Given the description of an element on the screen output the (x, y) to click on. 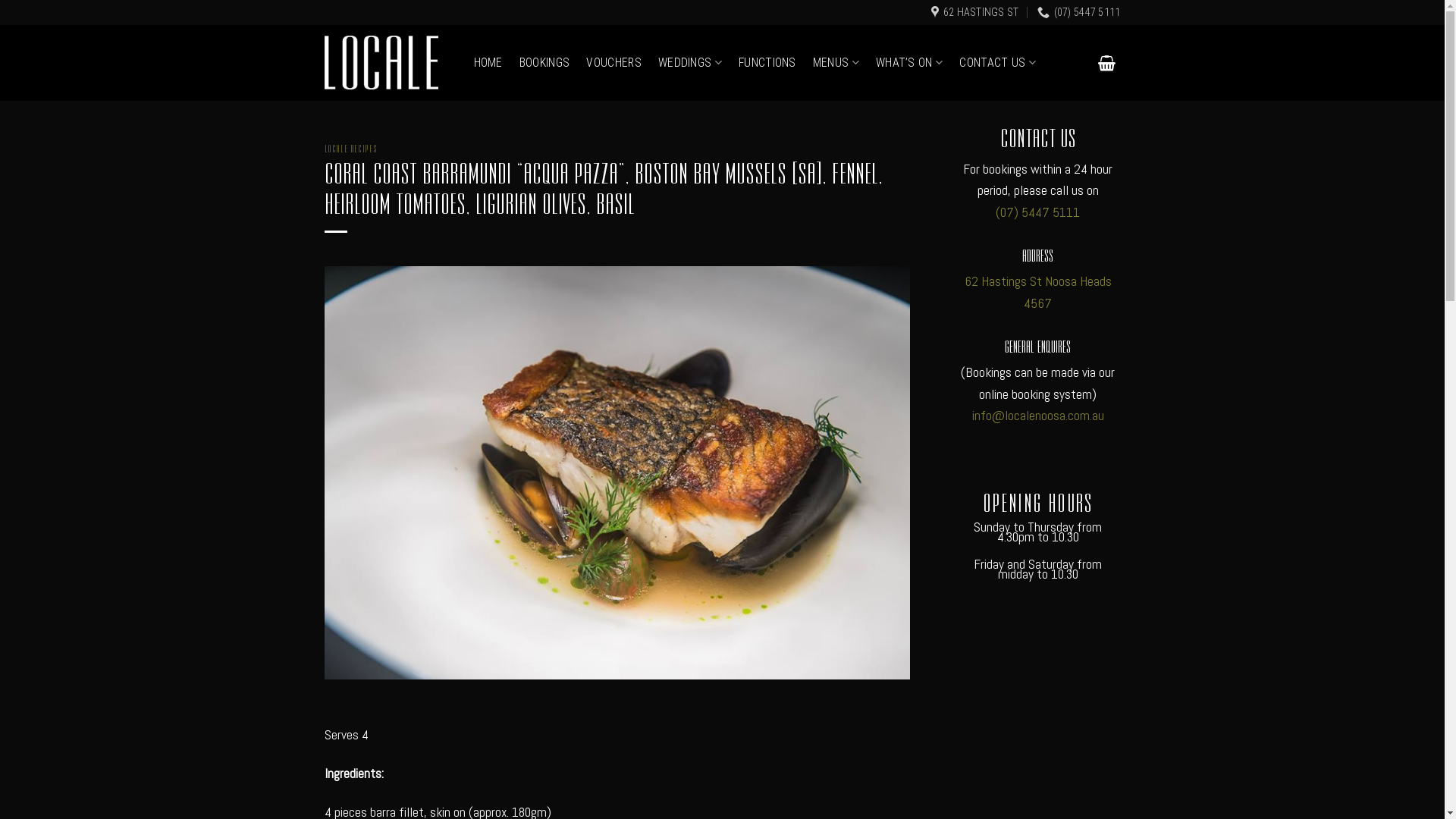
LOCALE RECIPES Element type: text (350, 147)
FUNCTIONS Element type: text (767, 62)
62 HASTINGS ST Element type: text (974, 12)
HOME Element type: text (487, 62)
Locale Noosa Restaurant and Bar - Noosa Element type: hover (381, 62)
62 Hastings St Noosa Heads 4567 Element type: text (1037, 291)
WEDDINGS Element type: text (689, 62)
(07) 5447 5111 Element type: text (1078, 12)
CONTACT US Element type: text (997, 62)
BOOKINGS Element type: text (544, 62)
Cart Element type: hover (1106, 62)
VOUCHERS Element type: text (613, 62)
(07) 5447 5111 Element type: text (1037, 211)
MENUS Element type: text (835, 62)
info@localenoosa.com.au Element type: text (1038, 415)
